Given the description of an element on the screen output the (x, y) to click on. 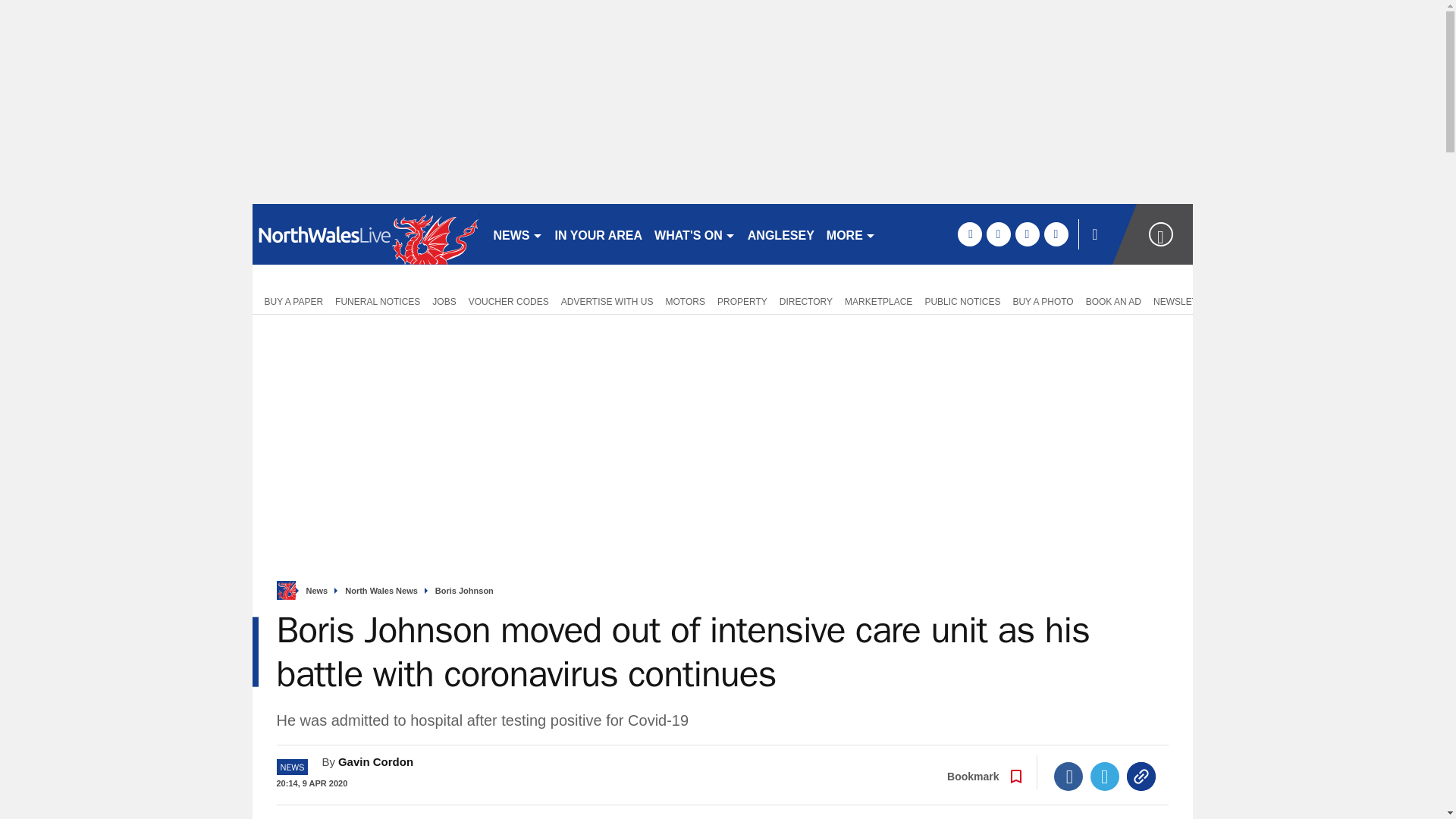
Twitter (1104, 776)
facebook (968, 233)
IN YOUR AREA (598, 233)
ANGLESEY (781, 233)
FUNERAL NOTICES (377, 300)
NEWS (517, 233)
Facebook (1068, 776)
MOTORS (685, 300)
BUY A PAPER (290, 300)
JOBS (443, 300)
